Given the description of an element on the screen output the (x, y) to click on. 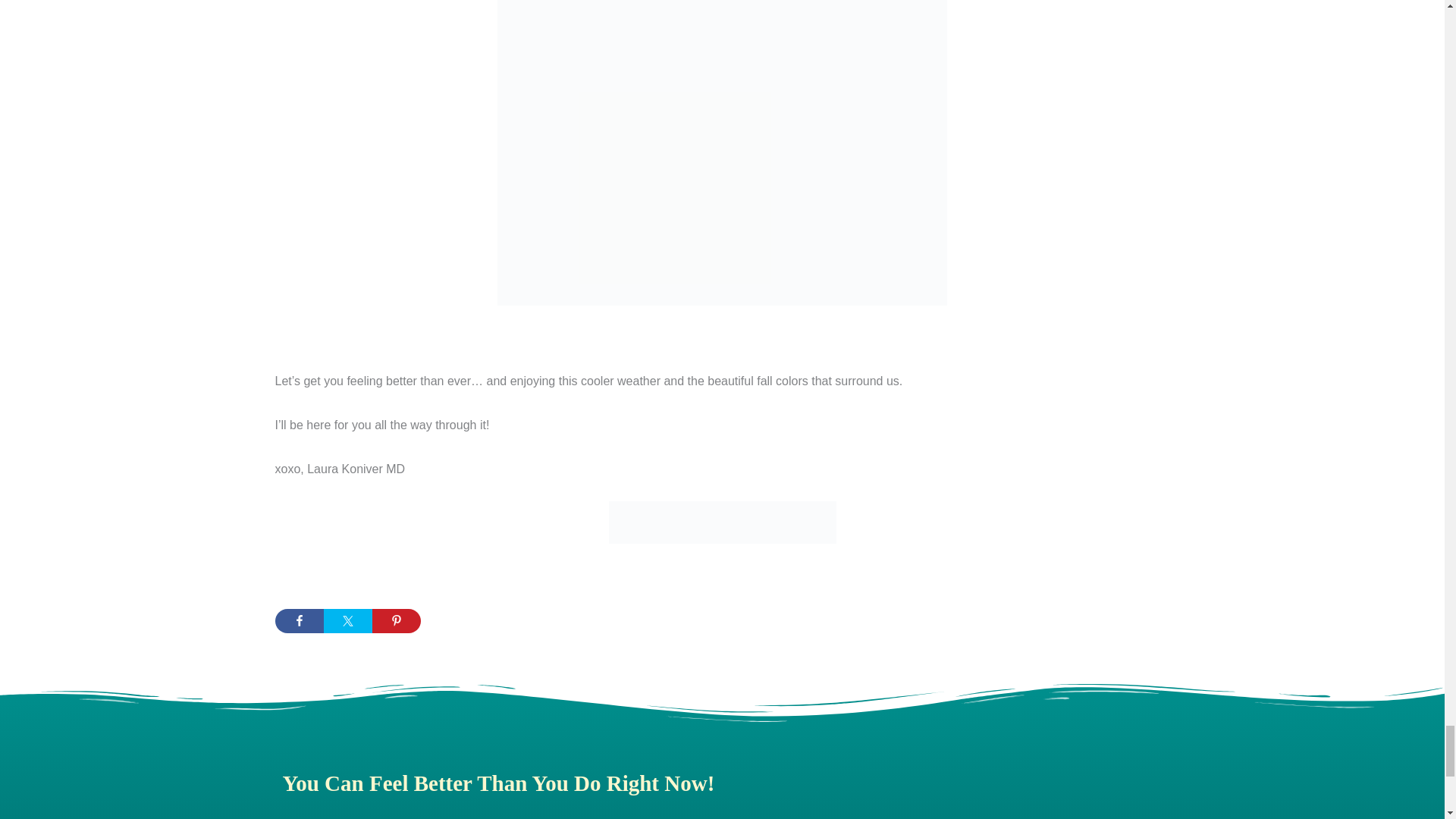
Share on Pinterest (395, 621)
Share on Twitter (347, 621)
Share on Facebook (299, 621)
